Given the description of an element on the screen output the (x, y) to click on. 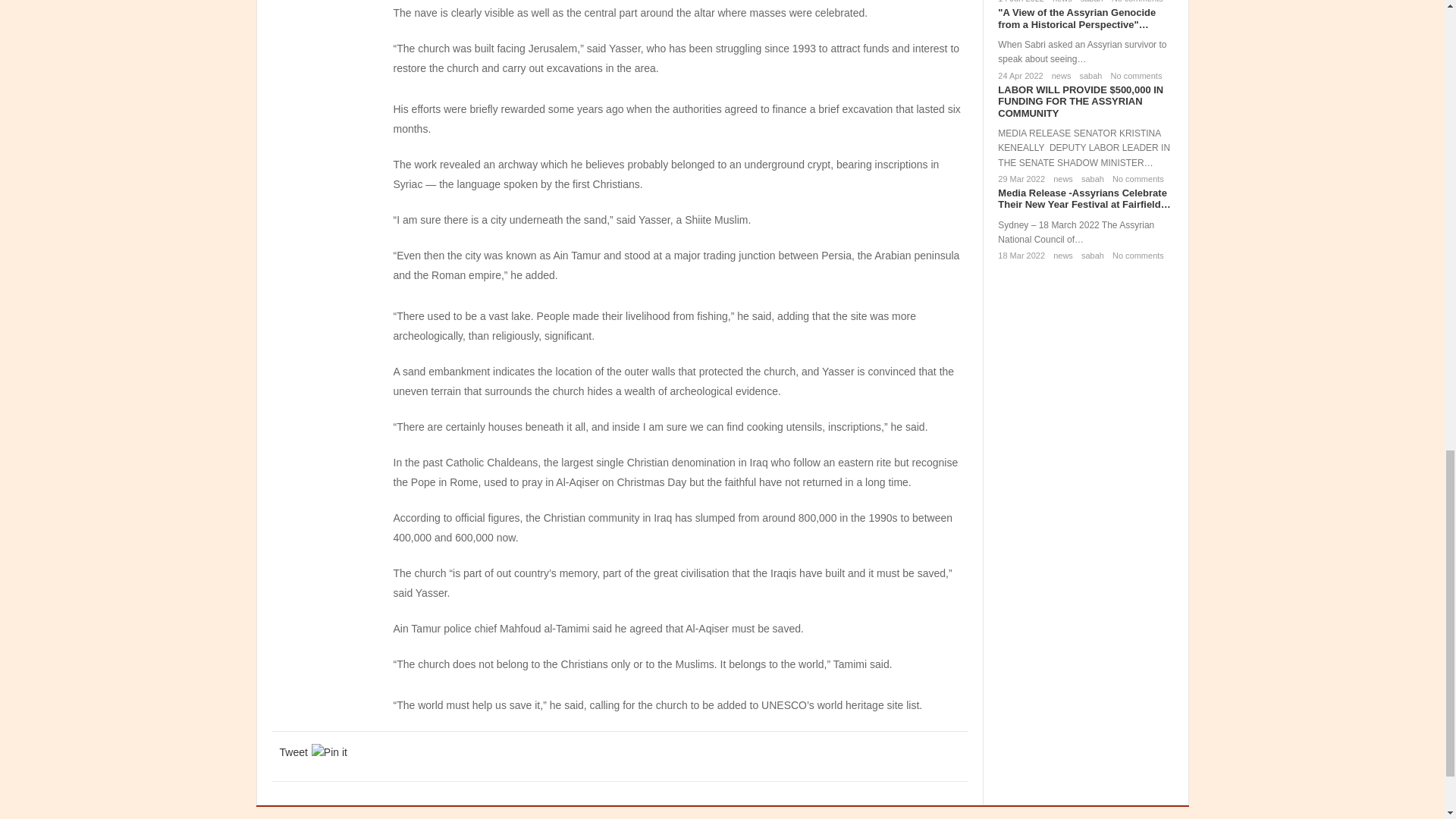
Pin it (329, 751)
Tweet (293, 751)
